Given the description of an element on the screen output the (x, y) to click on. 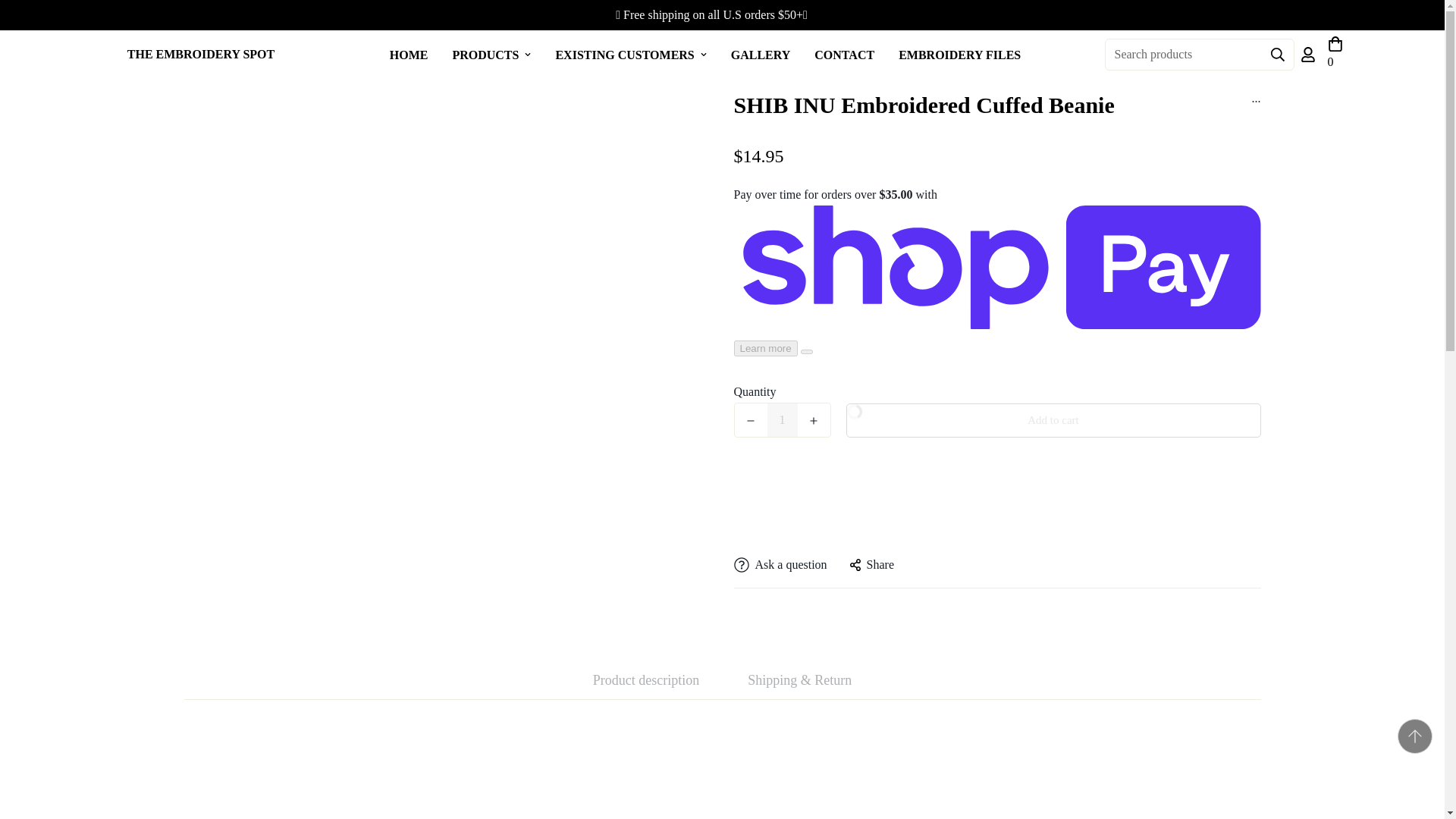
HOME (409, 53)
THE EMBROIDERY SPOT (200, 54)
EXISTING CUSTOMERS (630, 53)
EMBROIDERY FILES (959, 53)
PRODUCTS (491, 53)
Back to the home page (574, 52)
GALLERY (761, 53)
1 (782, 419)
